Given the description of an element on the screen output the (x, y) to click on. 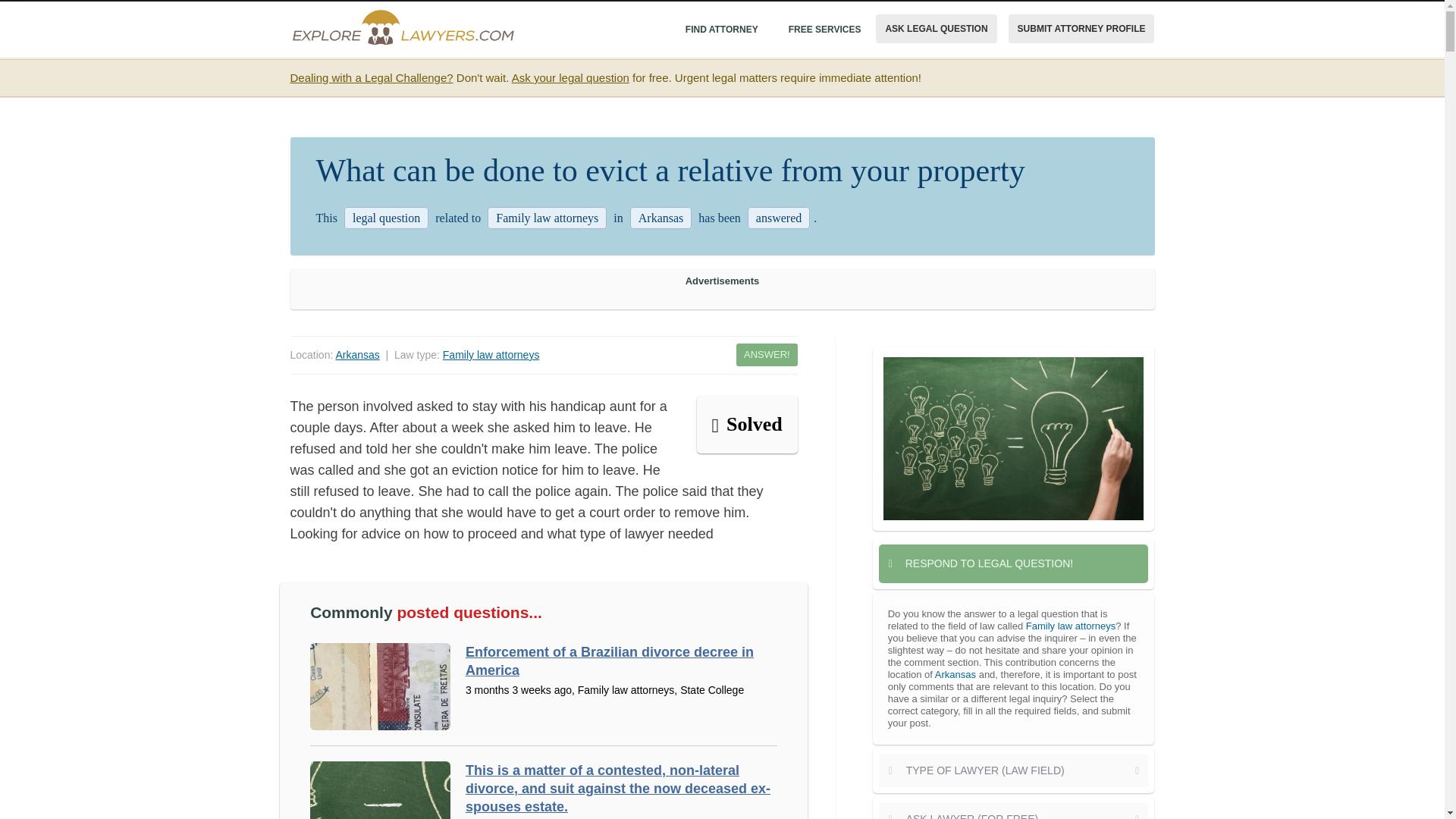
Explore Lawyers - find the best attorney near you! (402, 27)
ASK LEGAL QUESTION (935, 28)
Solved (745, 424)
Arkansas (356, 354)
What can be done to evict a relative from your property  (1013, 440)
Legal solution for this issue. (745, 424)
FREE SERVICES (824, 29)
SUBMIT ATTORNEY PROFILE (1081, 28)
